Given the description of an element on the screen output the (x, y) to click on. 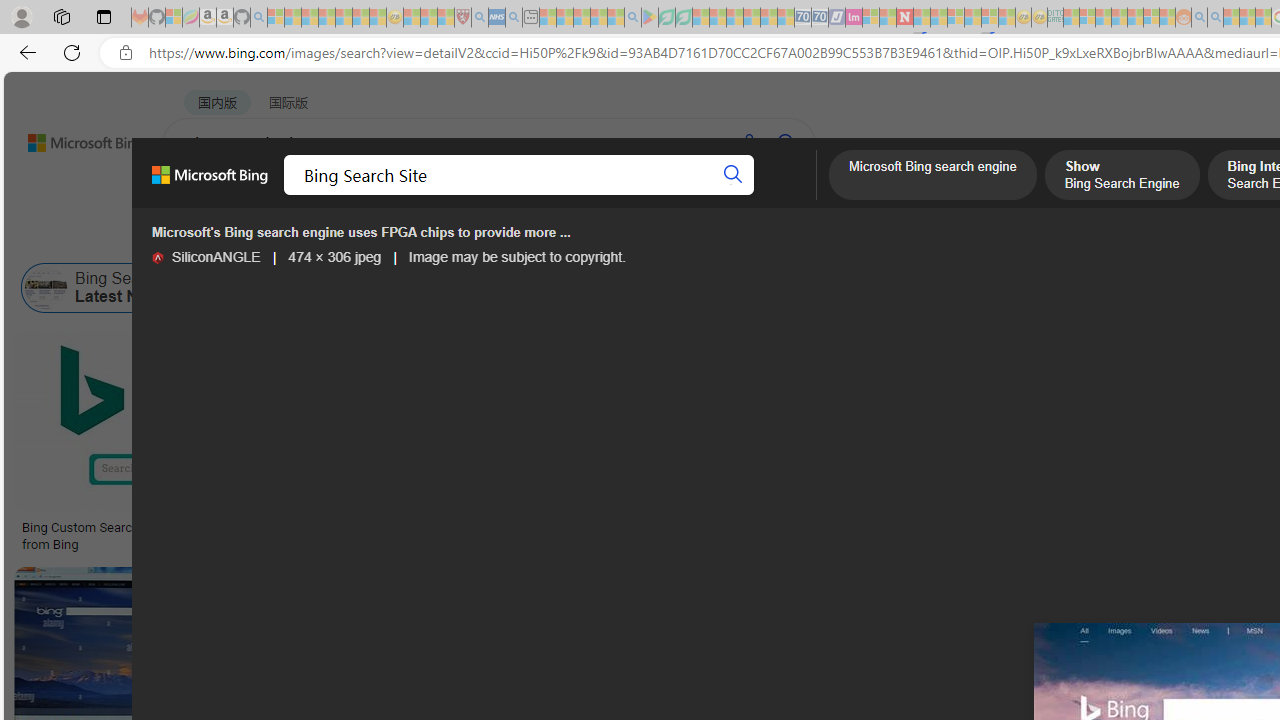
Class: b_pri_nav_svg (423, 196)
Image result for Bing Search Site (492, 421)
14 Common Myths Debunked By Scientific Facts - Sleeping (938, 17)
NCL Adult Asthma Inhaler Choice Guideline - Sleeping (497, 17)
Local - MSN - Sleeping (445, 17)
Image may be subject to copyright. (516, 257)
Bing Home Screen (689, 287)
